Given the description of an element on the screen output the (x, y) to click on. 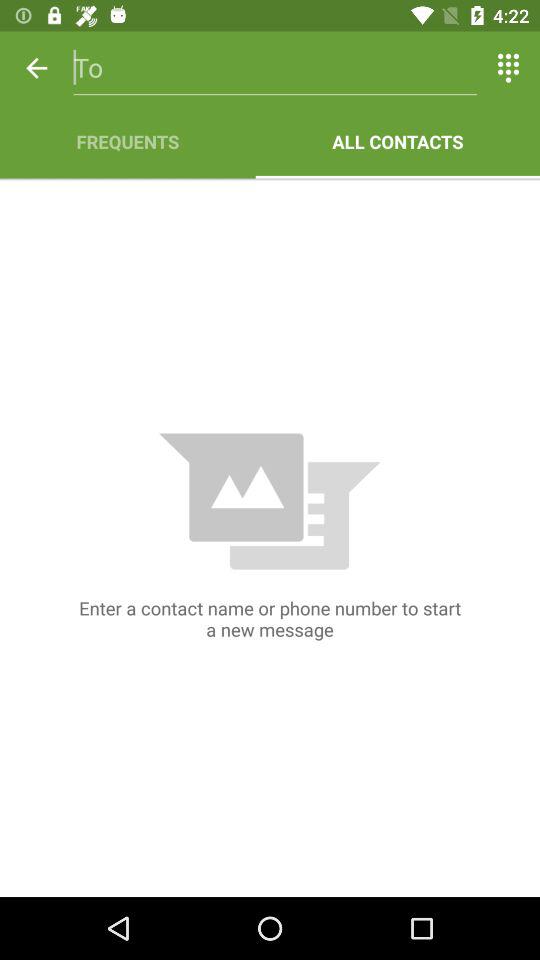
click all contacts (397, 141)
